Given the description of an element on the screen output the (x, y) to click on. 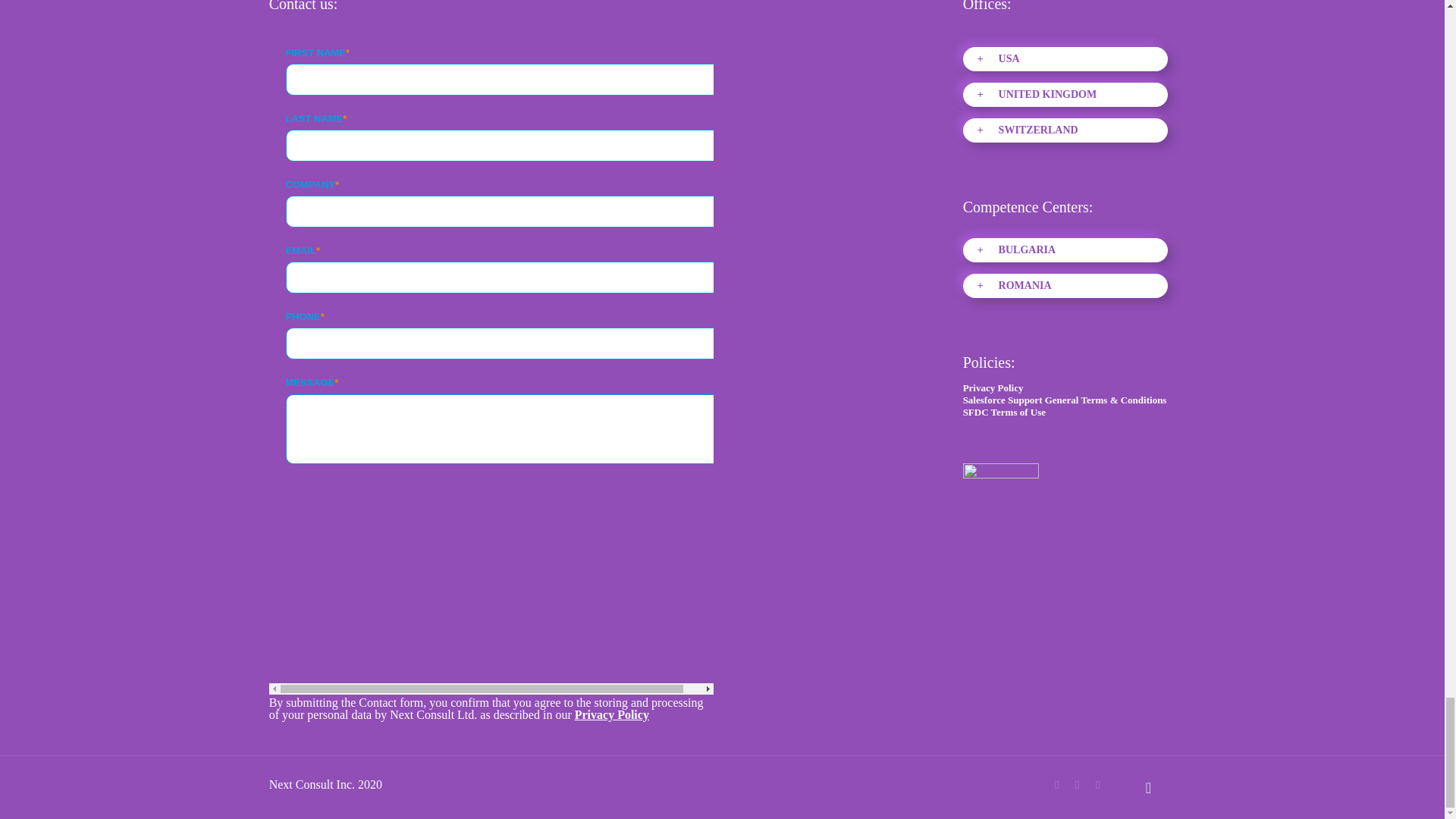
Twitter (1076, 784)
Facebook (1056, 784)
LinkedIn (1097, 784)
